Given the description of an element on the screen output the (x, y) to click on. 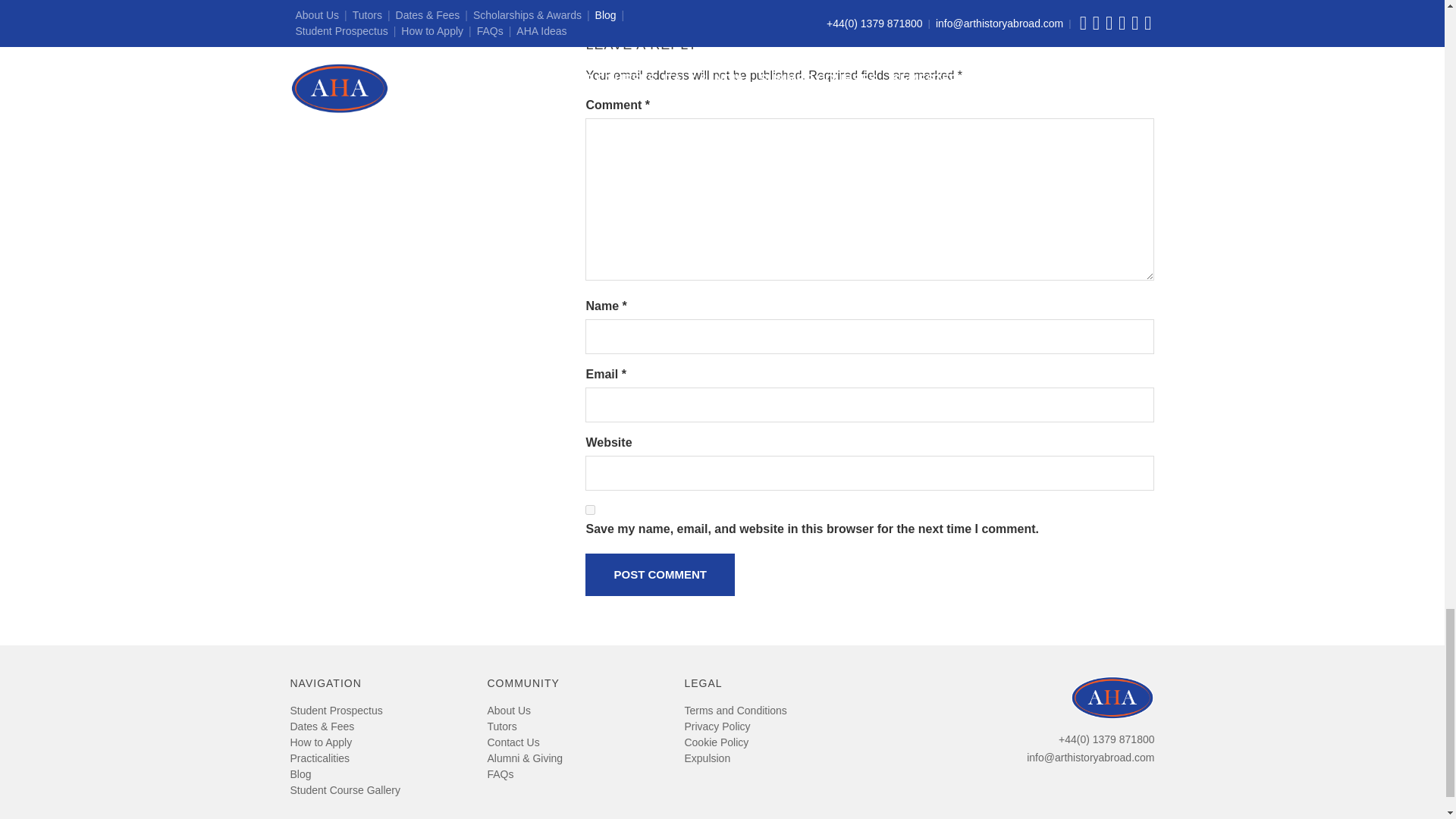
Post Comment (660, 575)
yes (590, 510)
